Given the description of an element on the screen output the (x, y) to click on. 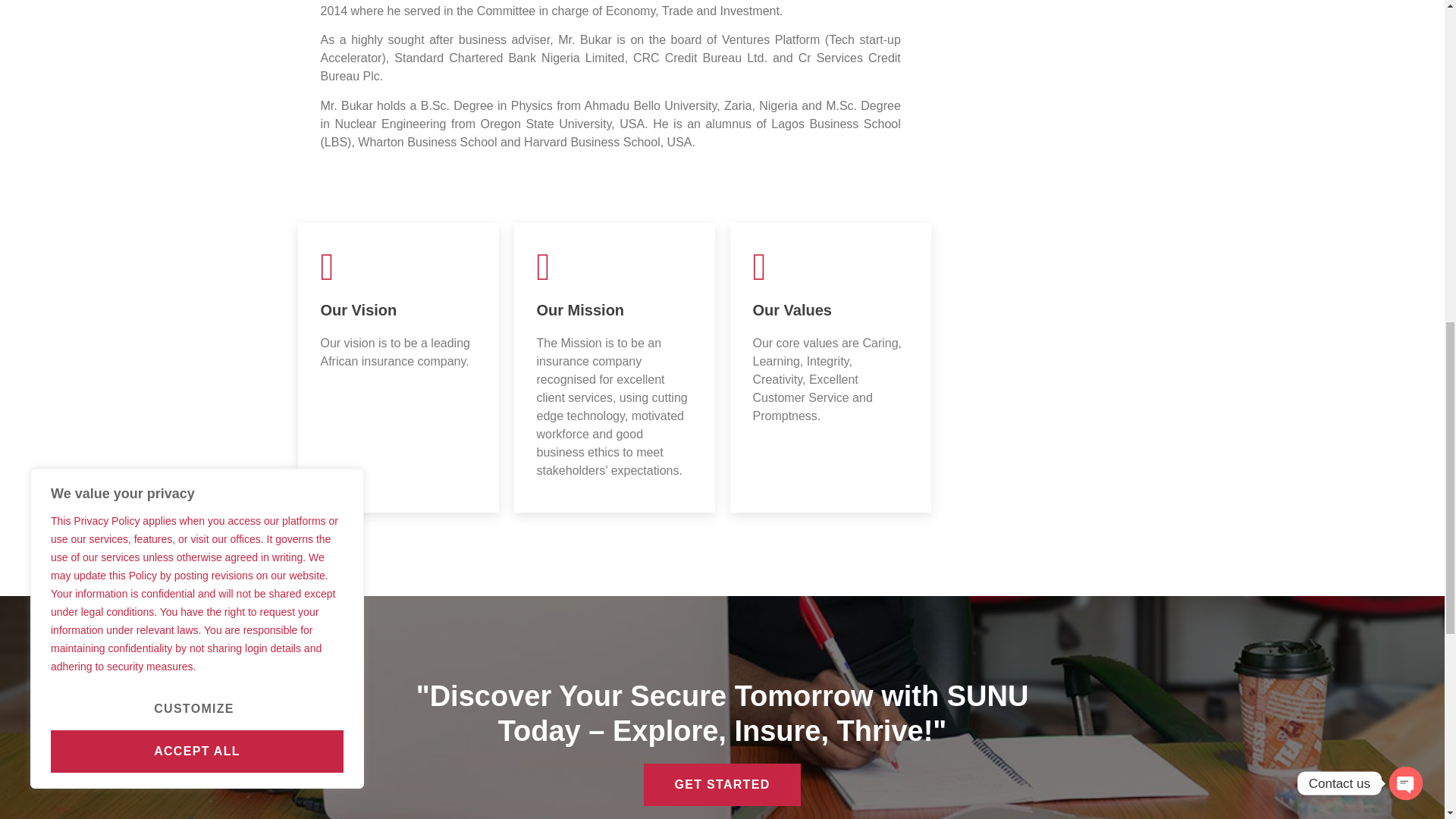
GET STARTED (722, 784)
